Given the description of an element on the screen output the (x, y) to click on. 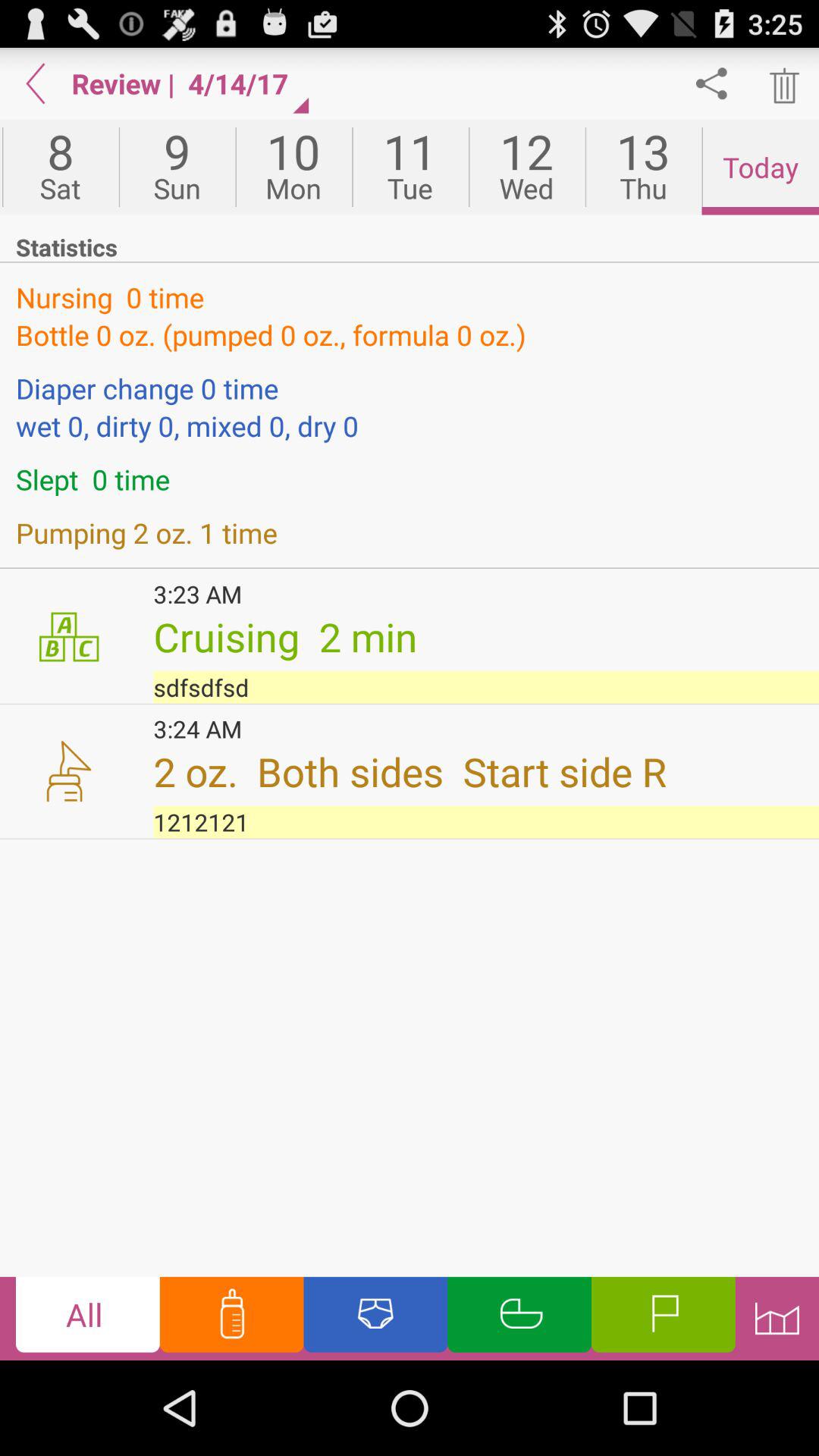
click to delete (783, 83)
